Given the description of an element on the screen output the (x, y) to click on. 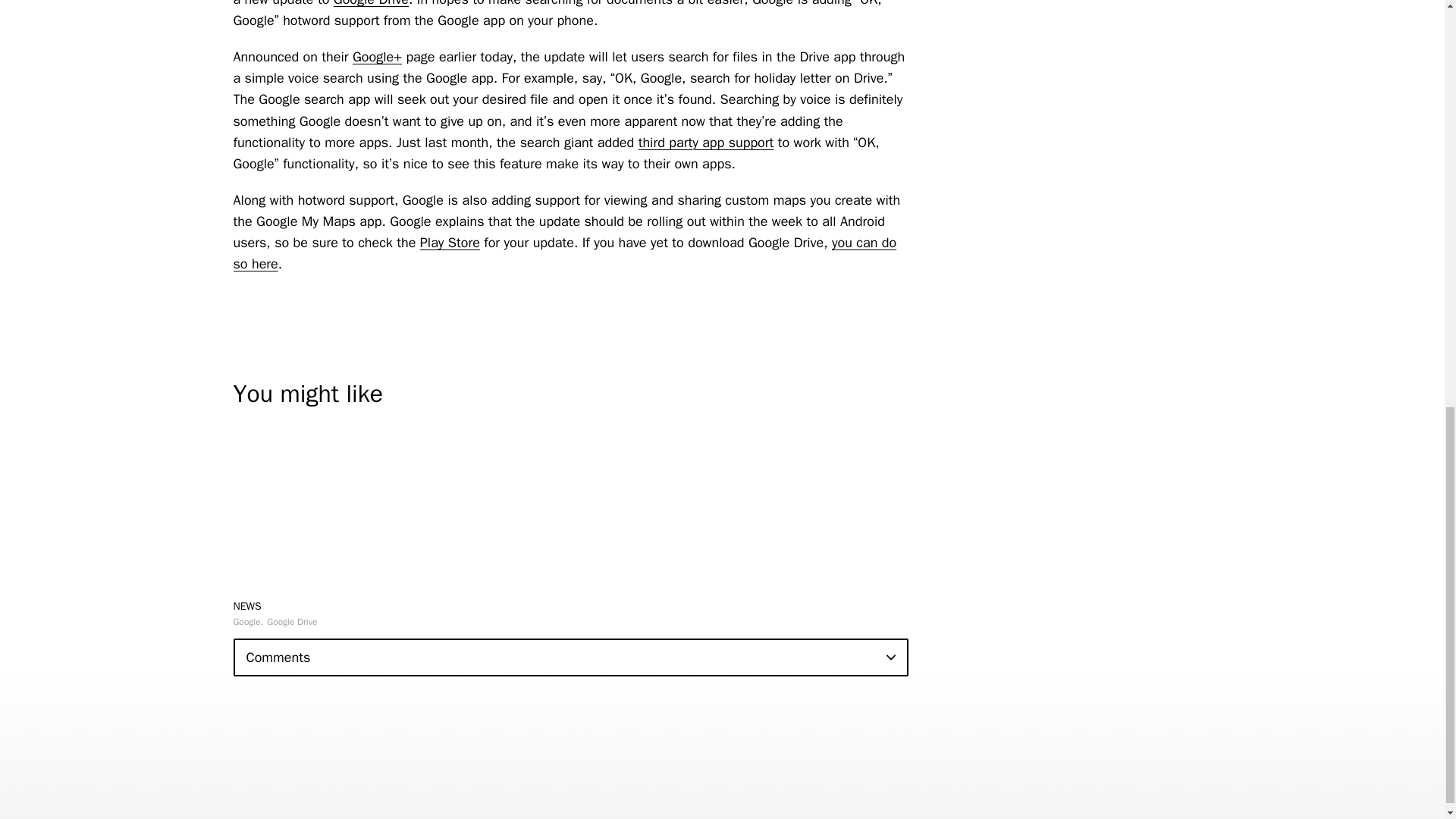
NEWS (247, 605)
Play Store (450, 242)
Google (247, 621)
you can do so here (564, 252)
Google Drive (371, 3)
Google Drive (291, 621)
third party app support (706, 142)
Comments (570, 657)
